Given the description of an element on the screen output the (x, y) to click on. 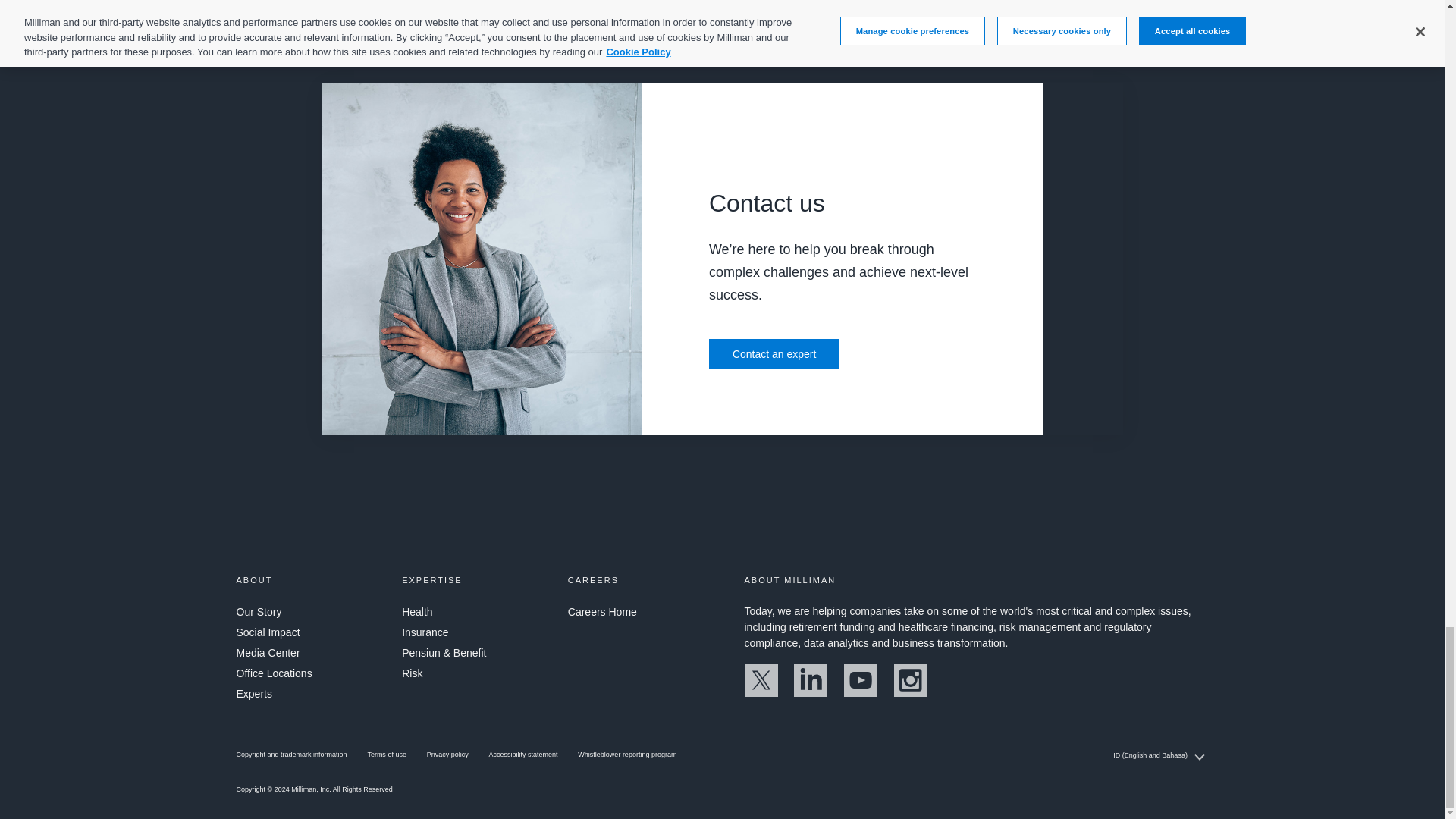
linkedin (810, 693)
instagram (910, 693)
Twitter (760, 693)
youtube (860, 693)
